Given the description of an element on the screen output the (x, y) to click on. 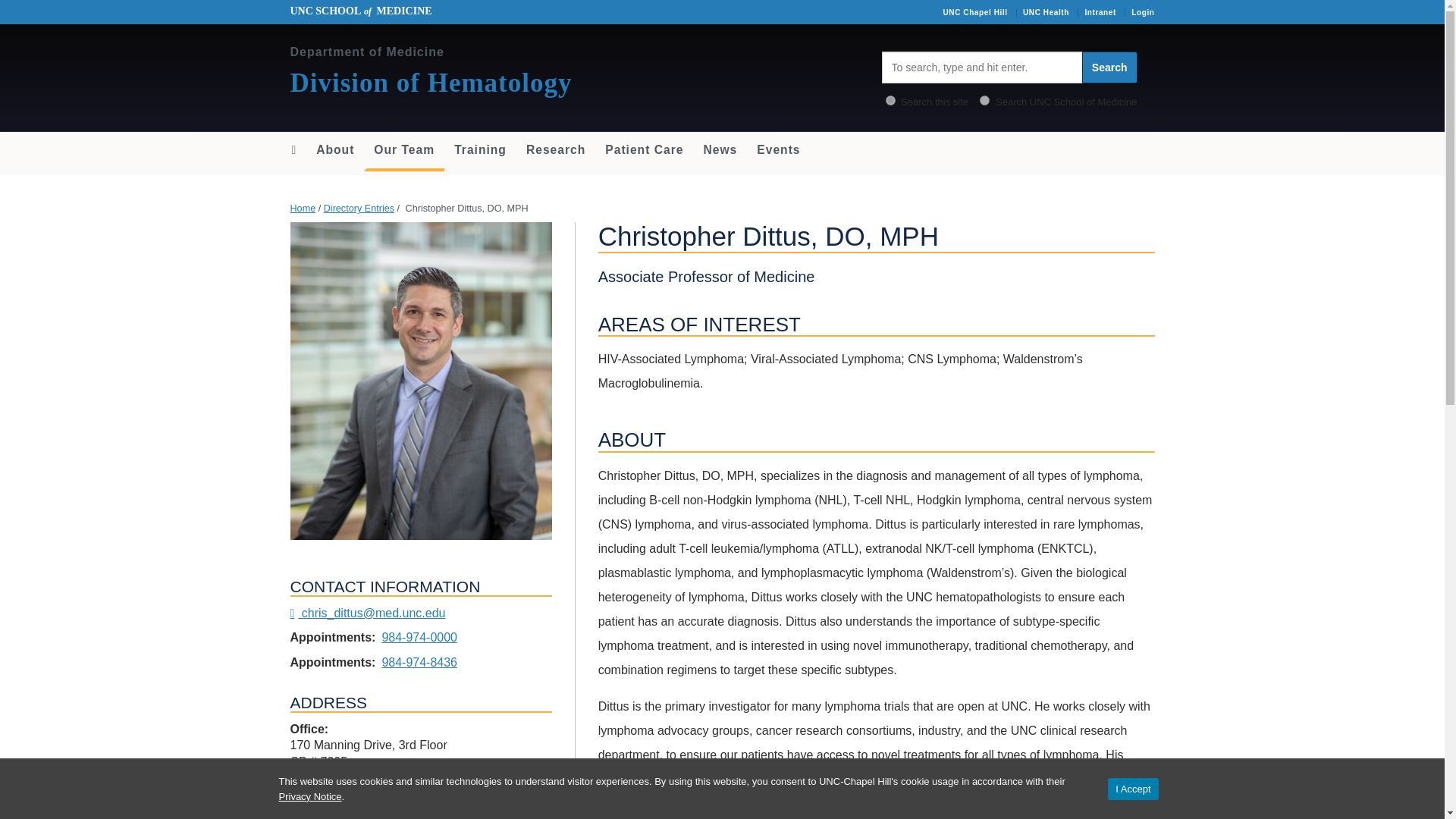
Privacy Notice (310, 795)
Training (480, 149)
I Accept (1132, 789)
984-974-8436 (419, 662)
News (719, 149)
Division of Hematology (430, 82)
Intranet (1099, 12)
Department of Medicine (366, 51)
wp (890, 100)
Our Team (404, 151)
